Given the description of an element on the screen output the (x, y) to click on. 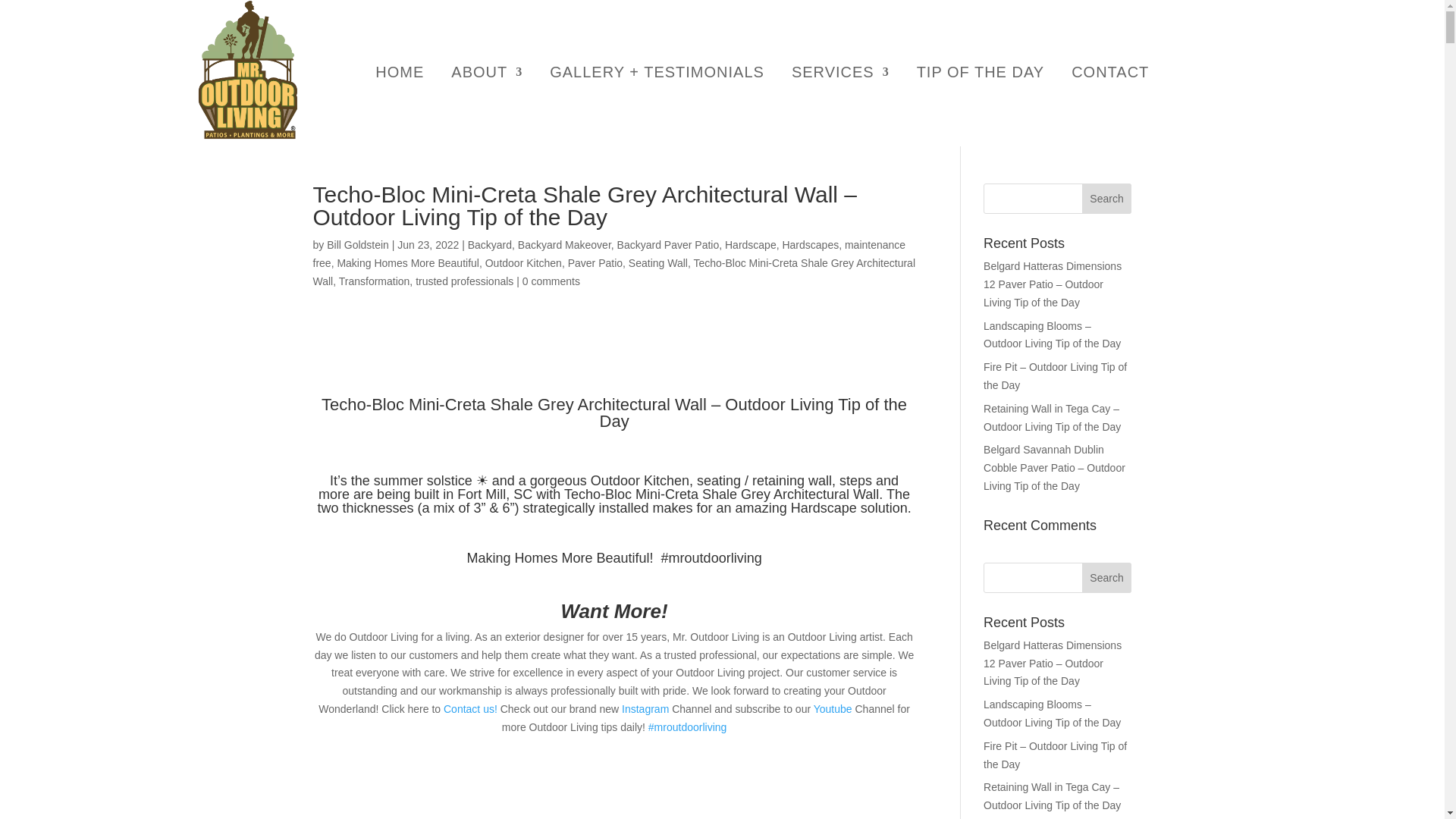
Seating Wall (657, 263)
Posts by Bill Goldstein (357, 244)
trusted professionals (463, 281)
Hardscape (750, 244)
Backyard Paver Patio (668, 244)
Search (1106, 198)
Paver Patio (595, 263)
maintenance free (609, 254)
Transformation (374, 281)
Making Homes More Beautiful (407, 263)
Backyard Makeover (564, 244)
Bill Goldstein (357, 244)
Hardscapes (809, 244)
Outdoor Kitchen (523, 263)
Backyard (489, 244)
